Given the description of an element on the screen output the (x, y) to click on. 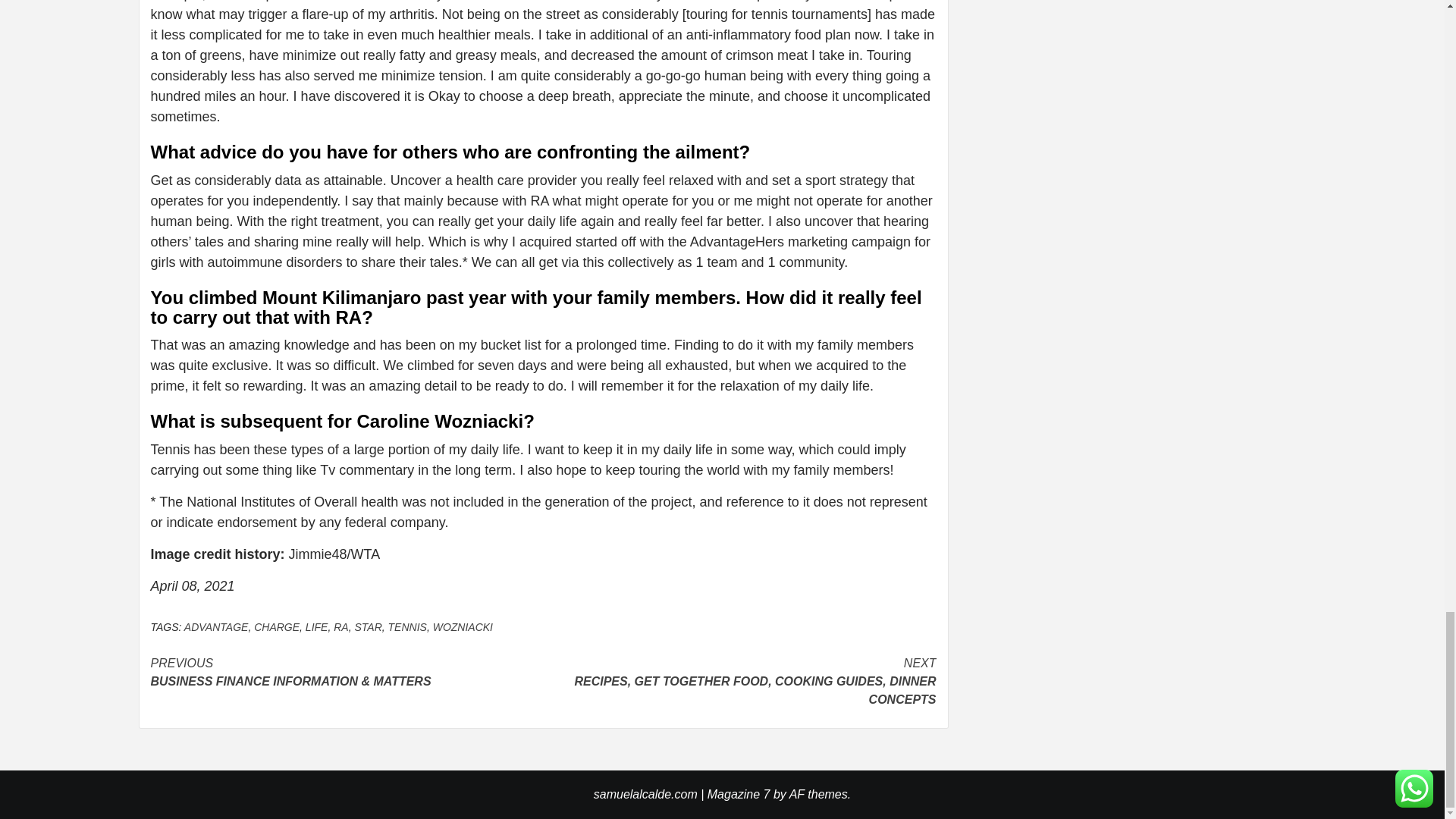
LIFE (317, 626)
TENNIS (407, 626)
RA (340, 626)
STAR (367, 626)
ADVANTAGE (216, 626)
CHARGE (276, 626)
WOZNIACKI (462, 626)
